Given the description of an element on the screen output the (x, y) to click on. 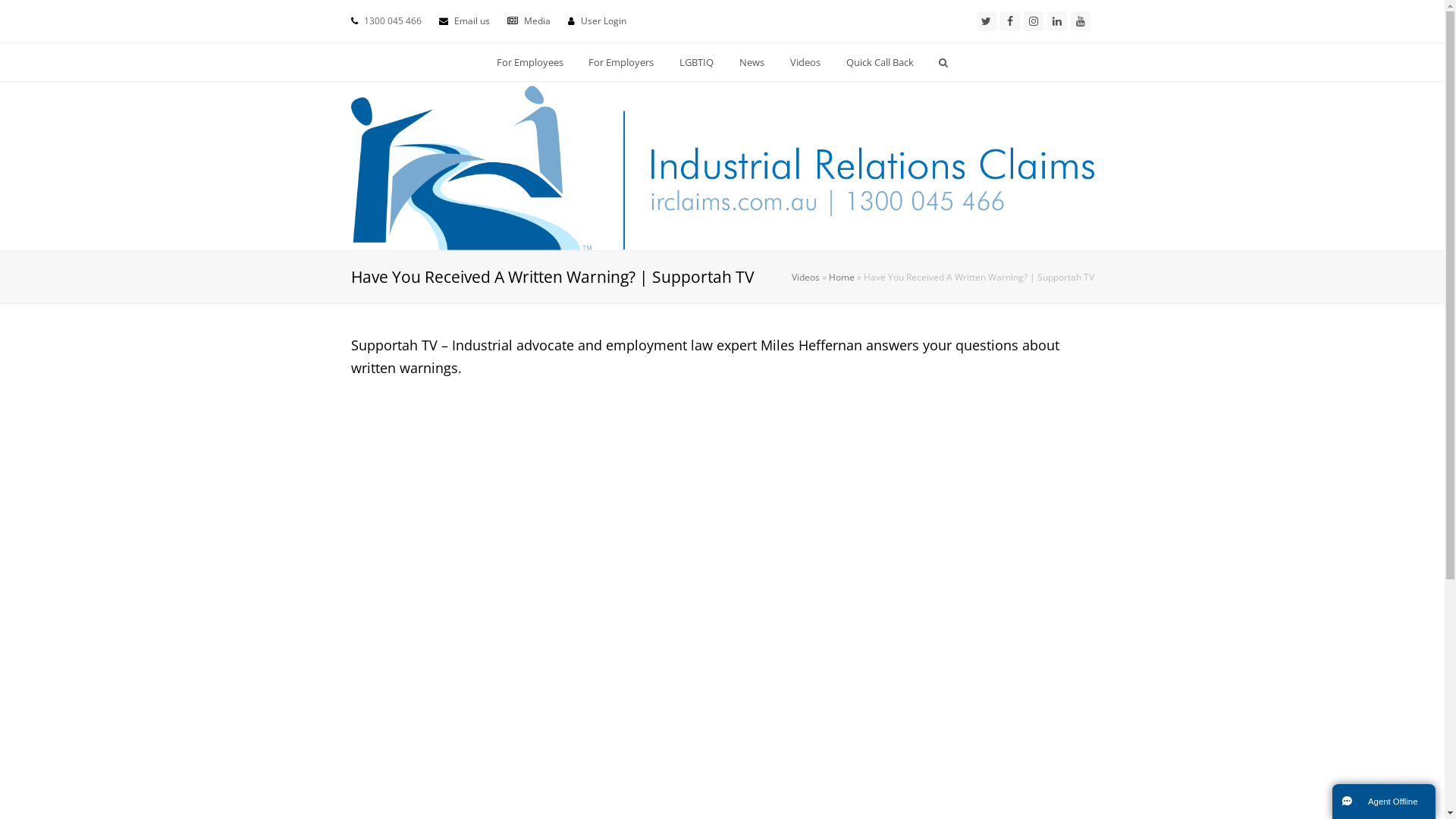
Home Element type: text (840, 276)
Quick Call Back Element type: text (879, 62)
Email us Element type: text (471, 20)
LinkedIn Element type: text (1056, 21)
Twitter Element type: text (986, 21)
Videos Element type: text (805, 276)
LGBTIQ Element type: text (696, 62)
Media Element type: text (536, 20)
User Login Element type: text (603, 20)
For Employees Element type: text (529, 62)
Facebook Element type: text (1009, 21)
For Employers Element type: text (621, 62)
Videos Element type: text (804, 62)
News Element type: text (752, 62)
Have You Received A Written Warning? | Supportah TV Element type: hover (721, 602)
Instagram Element type: text (1033, 21)
Youtube Element type: text (1080, 21)
